Given the description of an element on the screen output the (x, y) to click on. 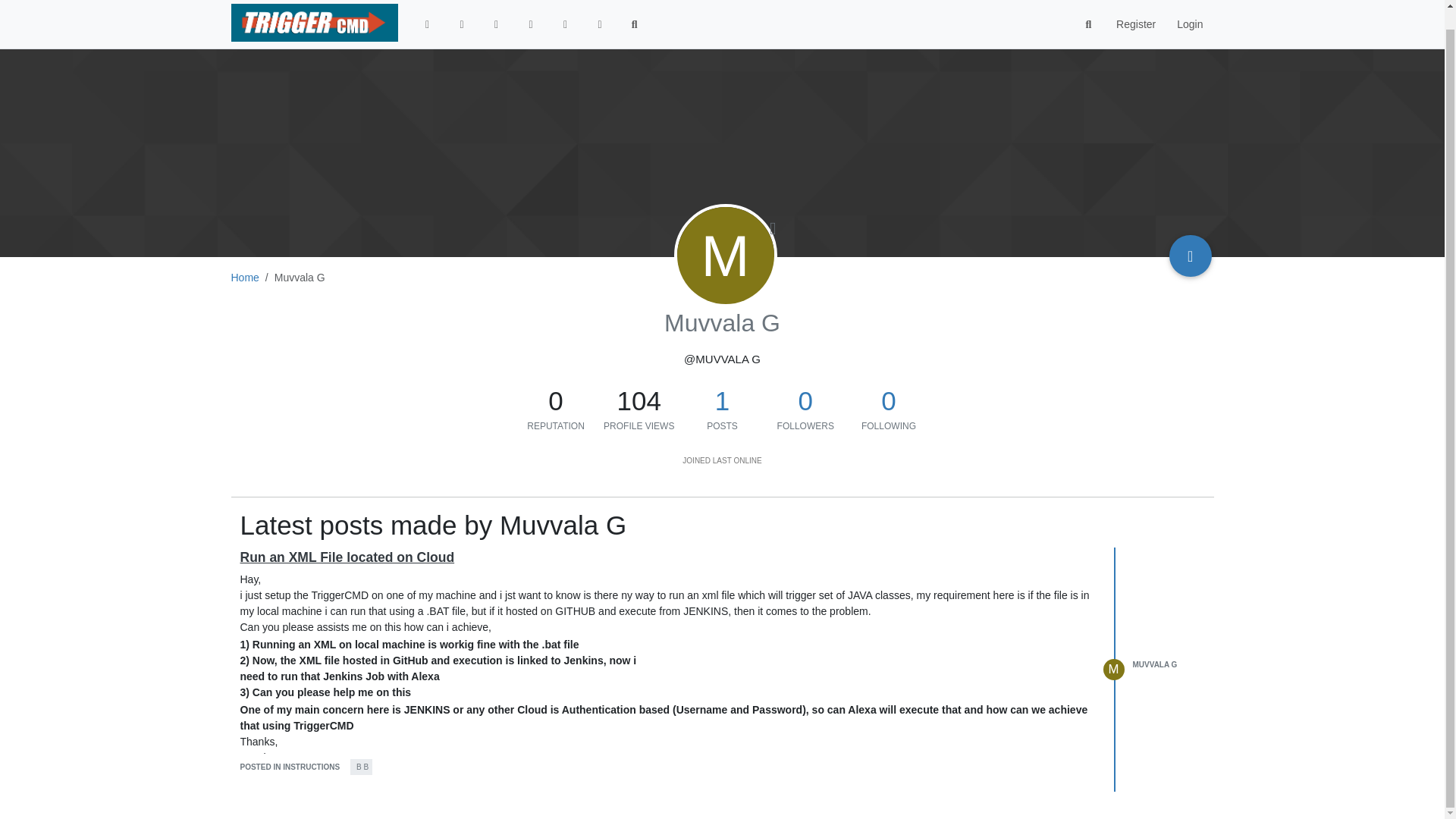
Run an XML File located on Cloud (347, 557)
Recent (461, 9)
POSTED IN INSTRUCTIONS (289, 766)
Groups (599, 9)
Register (1135, 9)
Users (565, 9)
Muvvala G (725, 255)
Tags (496, 9)
Search (634, 9)
MUVVALA G (1154, 664)
